Given the description of an element on the screen output the (x, y) to click on. 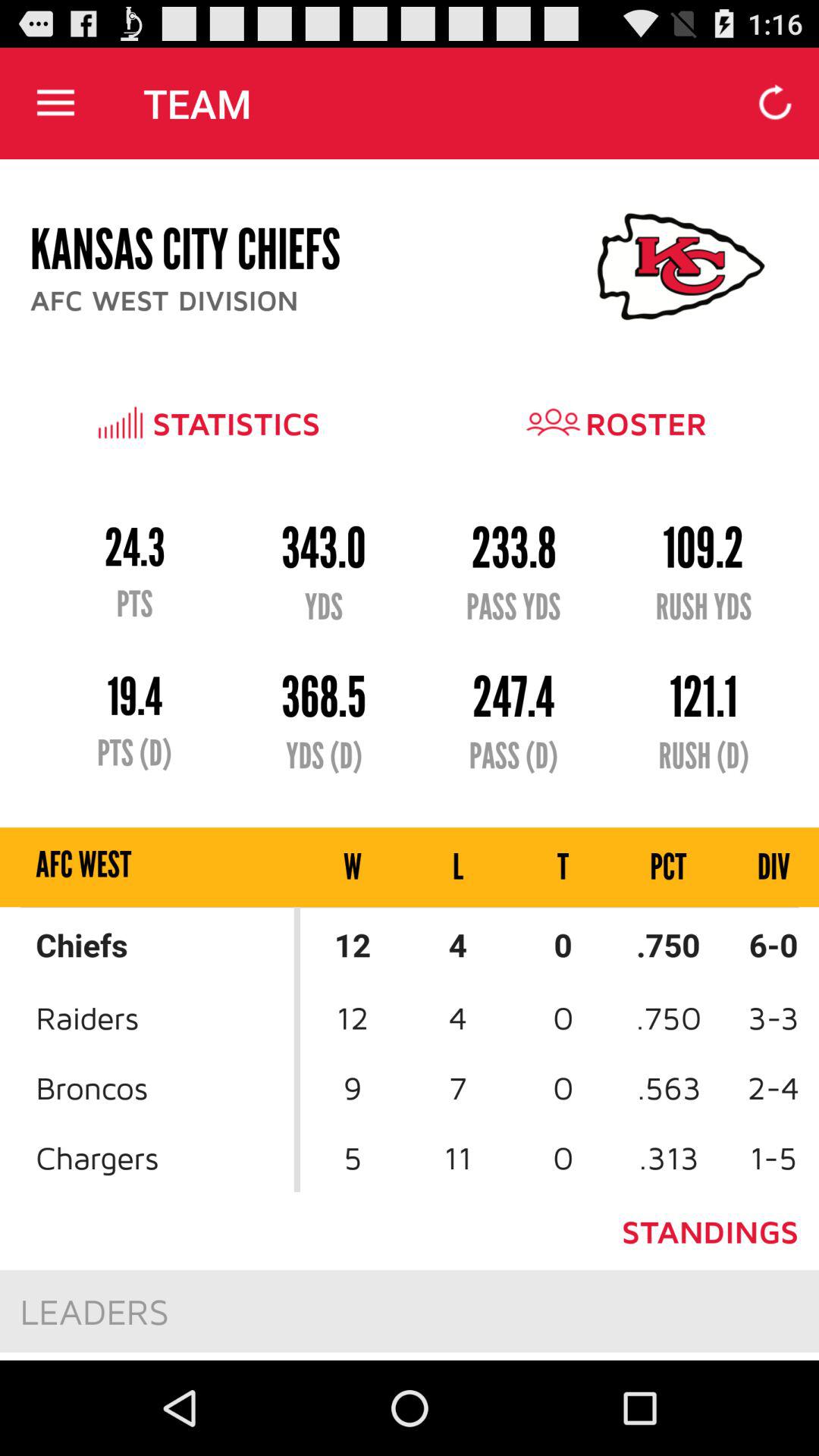
click the item above .750 item (760, 867)
